Given the description of an element on the screen output the (x, y) to click on. 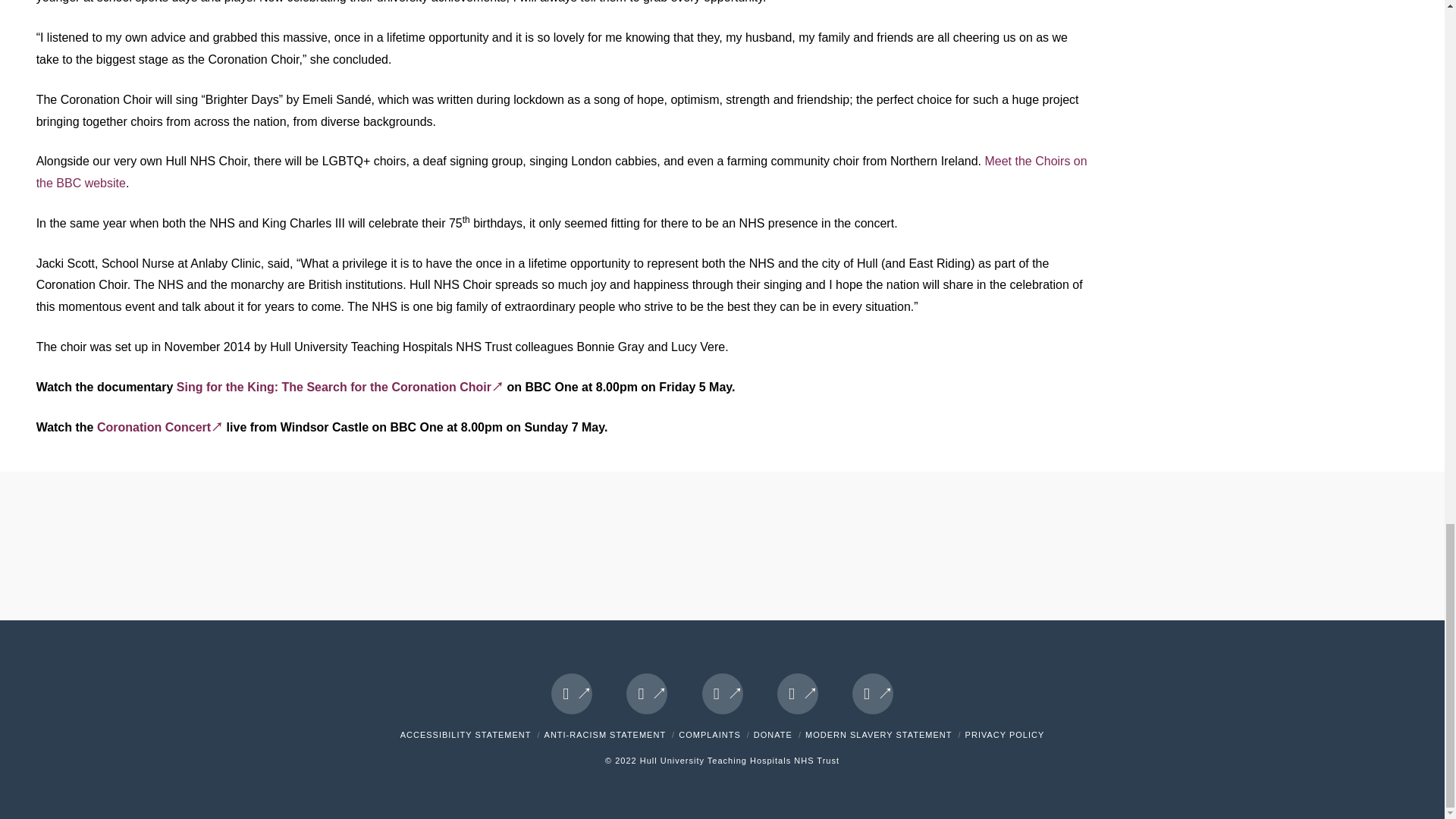
YouTube (797, 693)
LinkedIn (721, 693)
Coronation Concert (159, 427)
Sing for the King: The Search for the Coronation Choir (339, 387)
Meet the Choirs on the BBC website (561, 171)
Instagram (872, 693)
Facebook (571, 693)
